Given the description of an element on the screen output the (x, y) to click on. 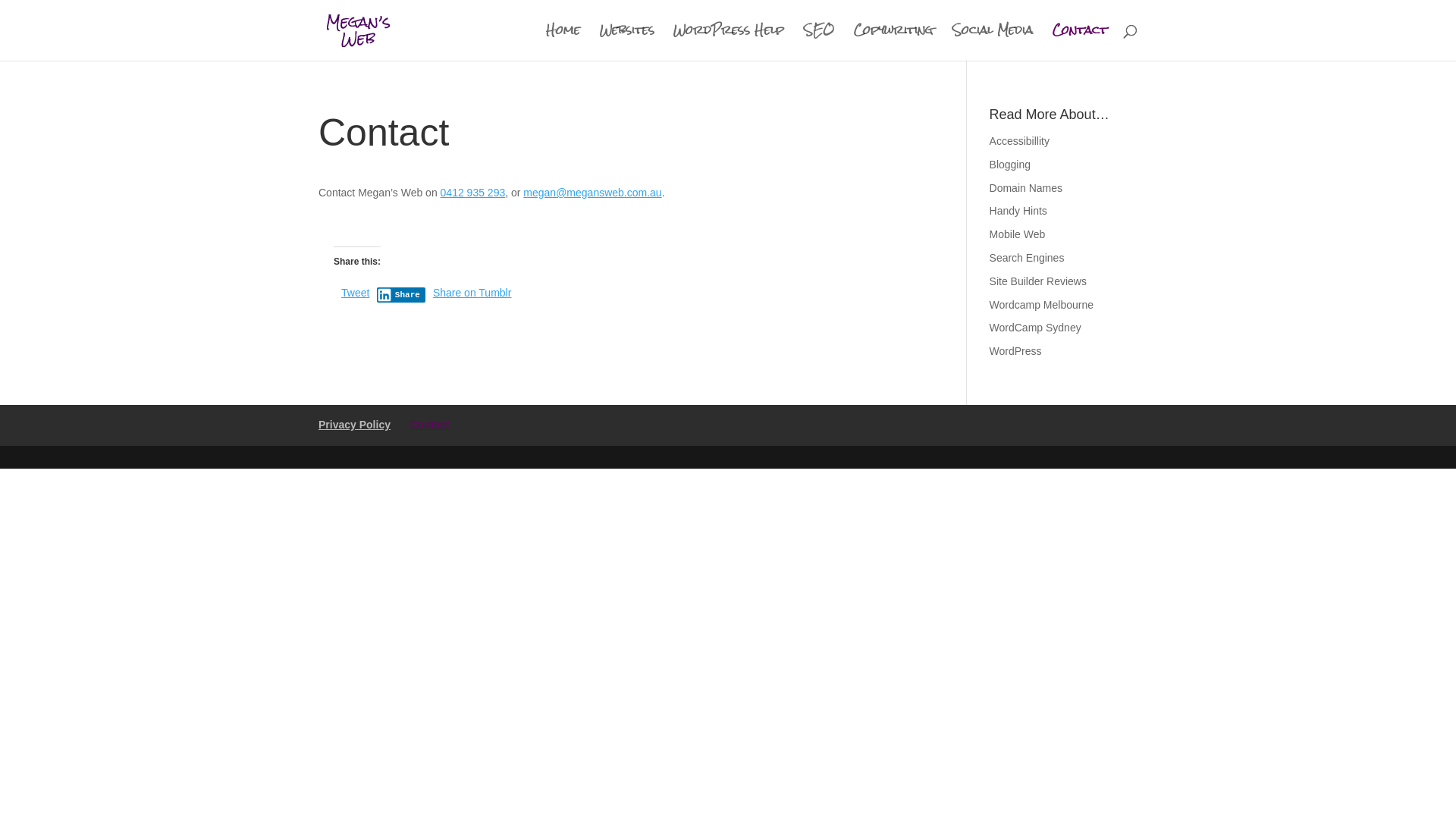
Accessibillity Element type: text (1019, 140)
Tweet Element type: text (355, 292)
Handy Hints Element type: text (1018, 210)
Wordcamp Melbourne Element type: text (1041, 304)
Share Element type: text (400, 294)
Mobile Web Element type: text (1017, 234)
Websites Element type: text (626, 42)
0412 935 293 Element type: text (472, 192)
Share on Tumblr Element type: text (472, 292)
Copywriting Element type: text (892, 42)
Social Media Element type: text (992, 42)
Site Builder Reviews Element type: text (1037, 281)
Domain Names Element type: text (1025, 188)
WordPress Element type: text (1015, 351)
WordPress Help Element type: text (728, 42)
Search Engines Element type: text (1026, 257)
Blogging Element type: text (1010, 164)
Home Element type: text (563, 42)
megan@megansweb.com.au Element type: text (592, 192)
Privacy Policy Element type: text (354, 424)
WordCamp Sydney Element type: text (1035, 327)
Contact Element type: text (1079, 42)
Contact Element type: text (429, 424)
SEO Element type: text (818, 42)
